Given the description of an element on the screen output the (x, y) to click on. 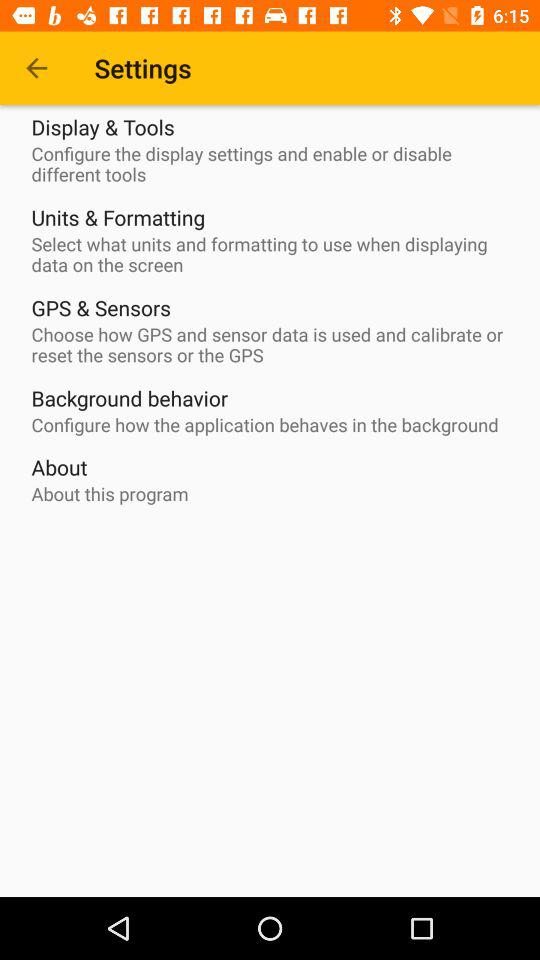
turn off item above the configure how the item (129, 398)
